Given the description of an element on the screen output the (x, y) to click on. 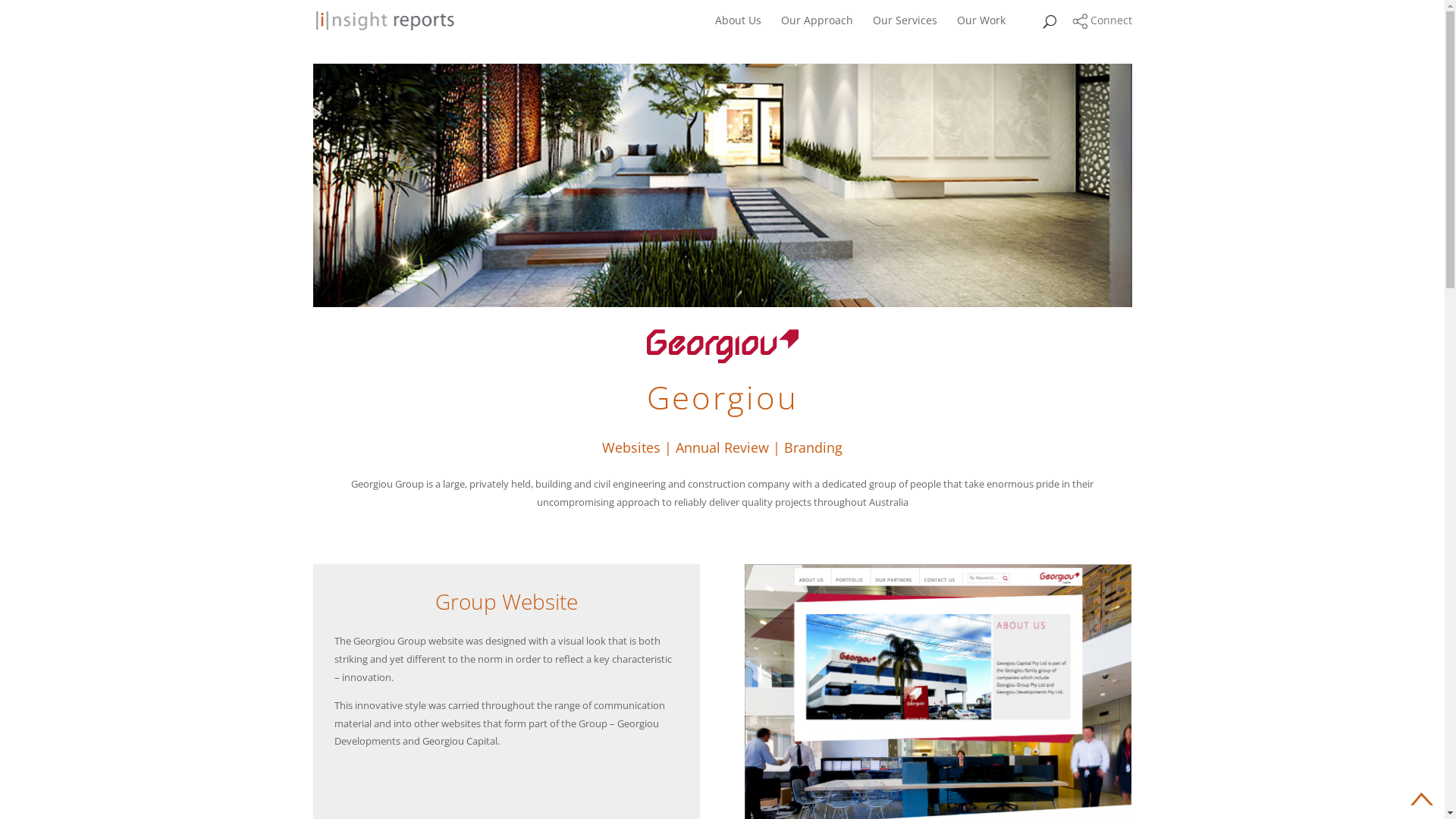
Our Approach Element type: text (817, 27)
Our Work Element type: text (981, 27)
Connect Element type: text (1102, 19)
About Us Element type: text (737, 27)
Go to top of page Element type: hover (1421, 798)
Our Services Element type: text (904, 27)
